Given the description of an element on the screen output the (x, y) to click on. 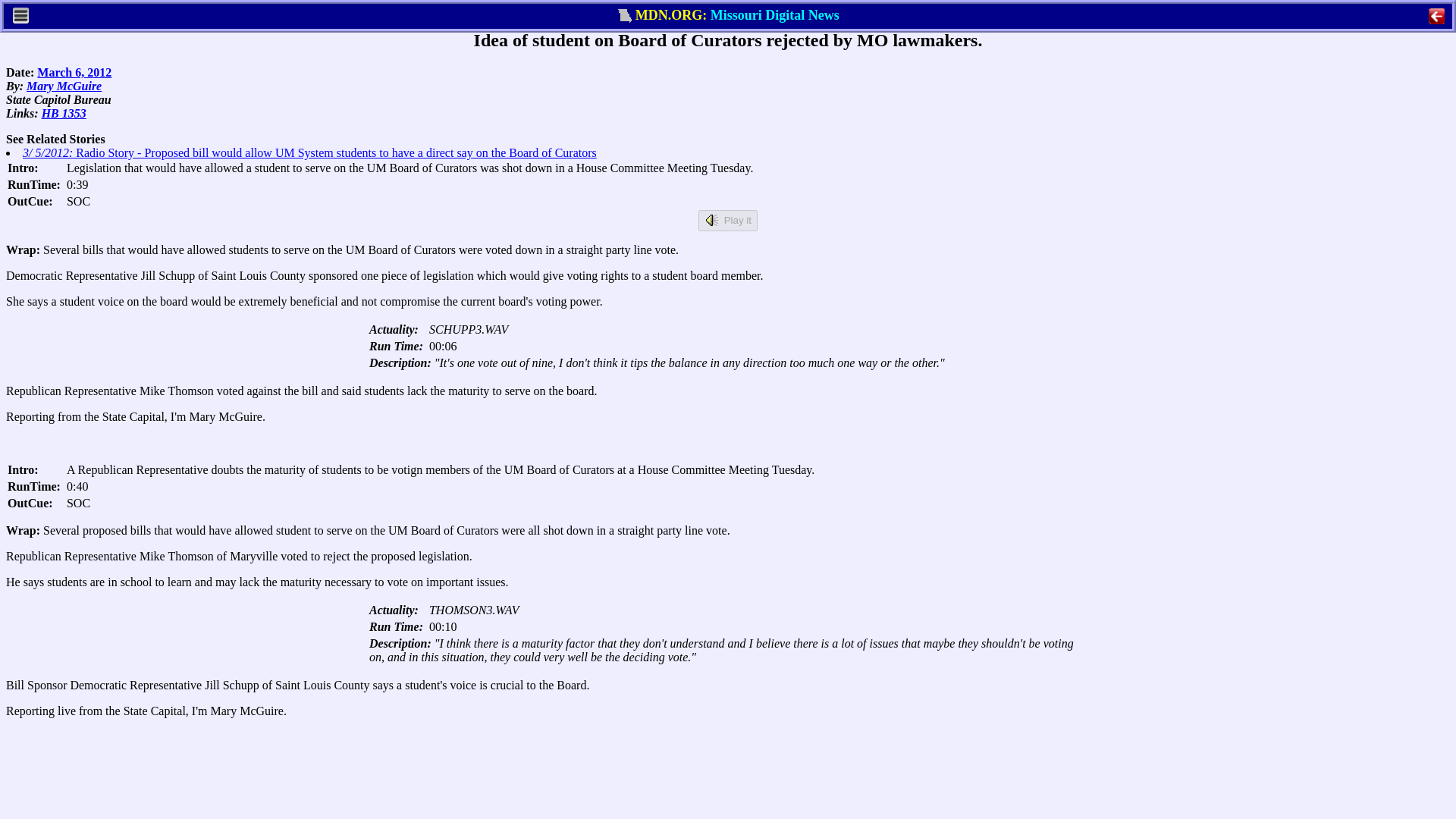
HB 1353 (63, 113)
 Play it (727, 219)
March 6, 2012 (74, 72)
Mary McGuire (63, 85)
